Given the description of an element on the screen output the (x, y) to click on. 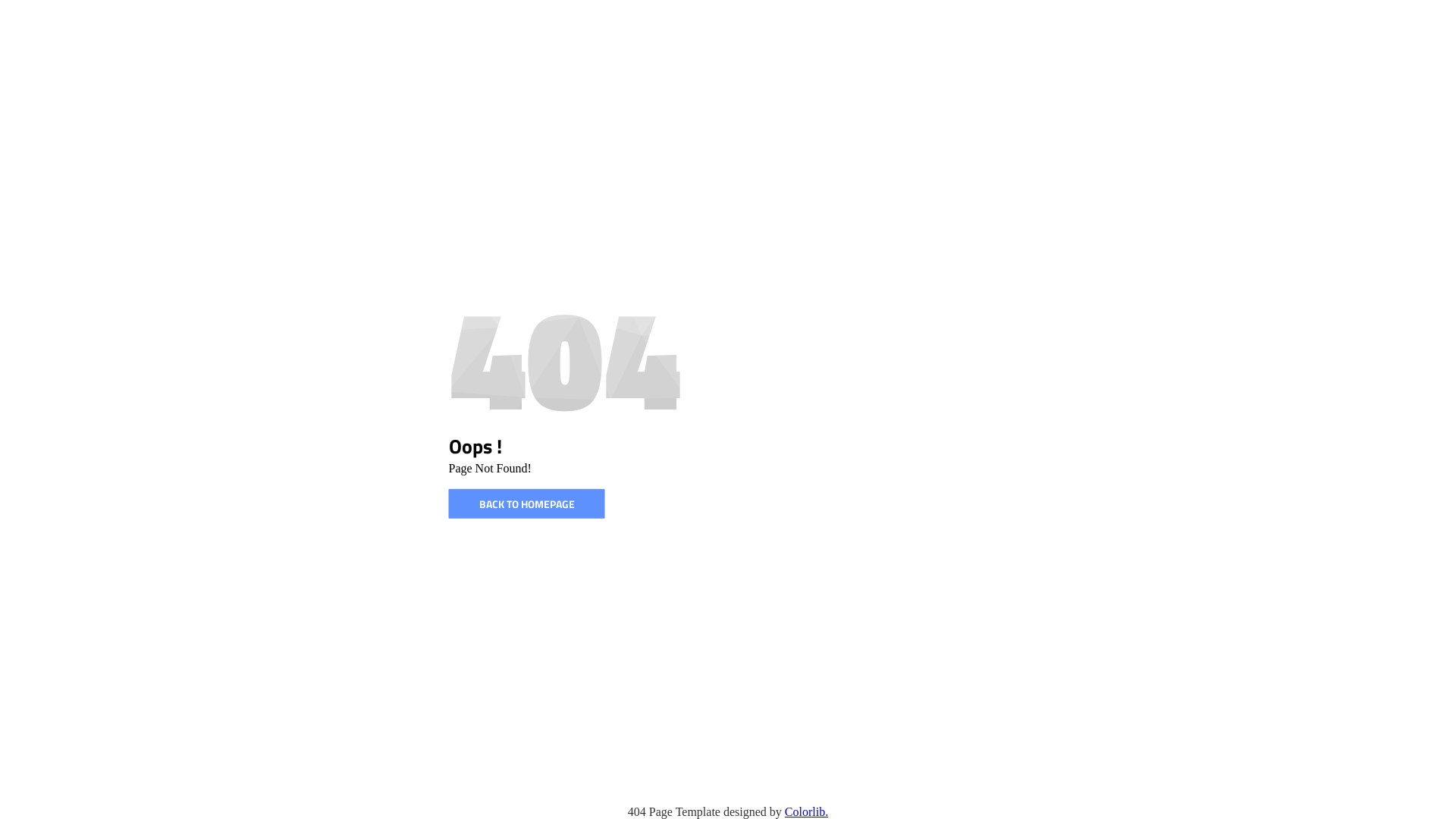
BACK TO HOMEPAGE Element type: text (526, 504)
Colorlib. Element type: text (806, 811)
